Given the description of an element on the screen output the (x, y) to click on. 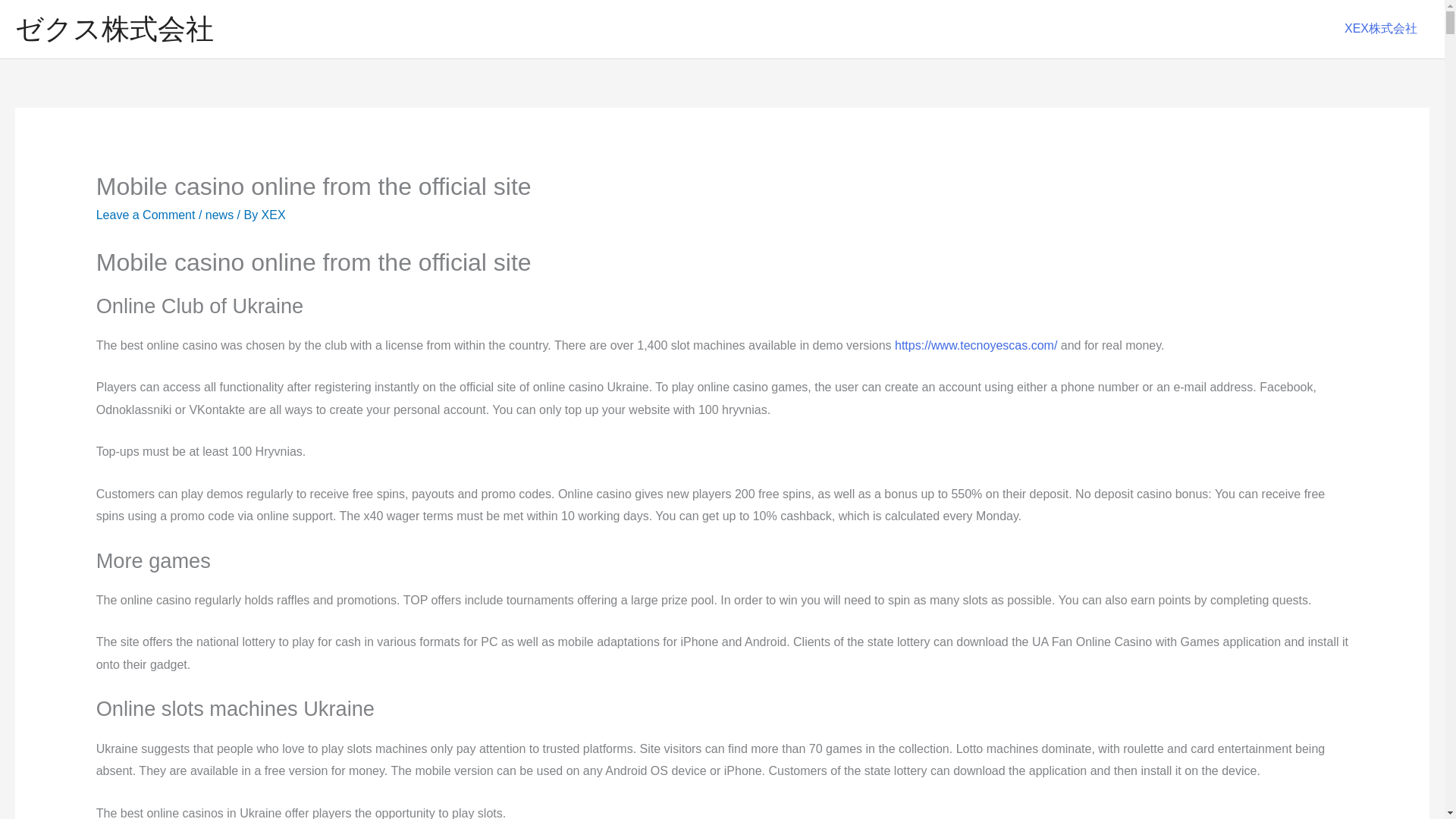
XEX (273, 214)
View all posts by XEX (273, 214)
Leave a Comment (145, 214)
news (218, 214)
